Given the description of an element on the screen output the (x, y) to click on. 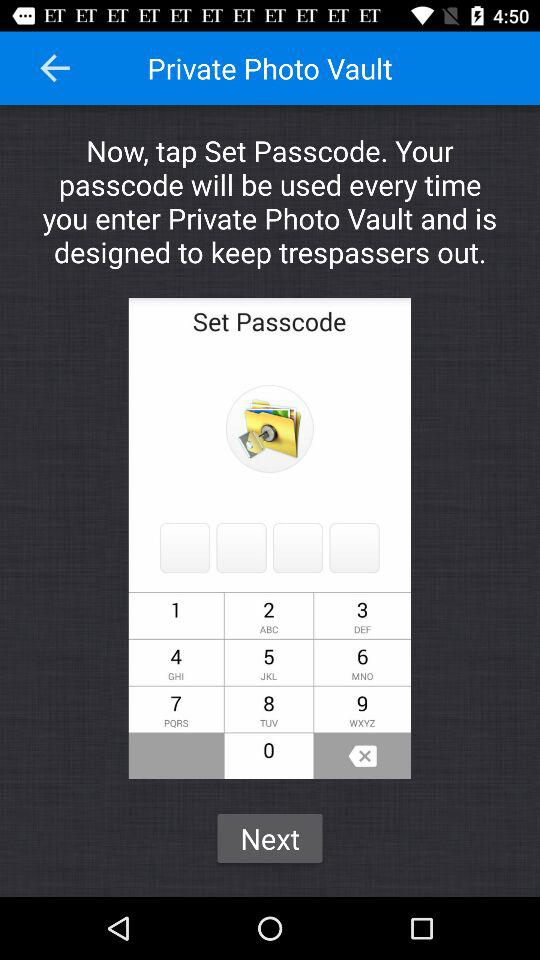
press icon above the now tap set icon (55, 68)
